Given the description of an element on the screen output the (x, y) to click on. 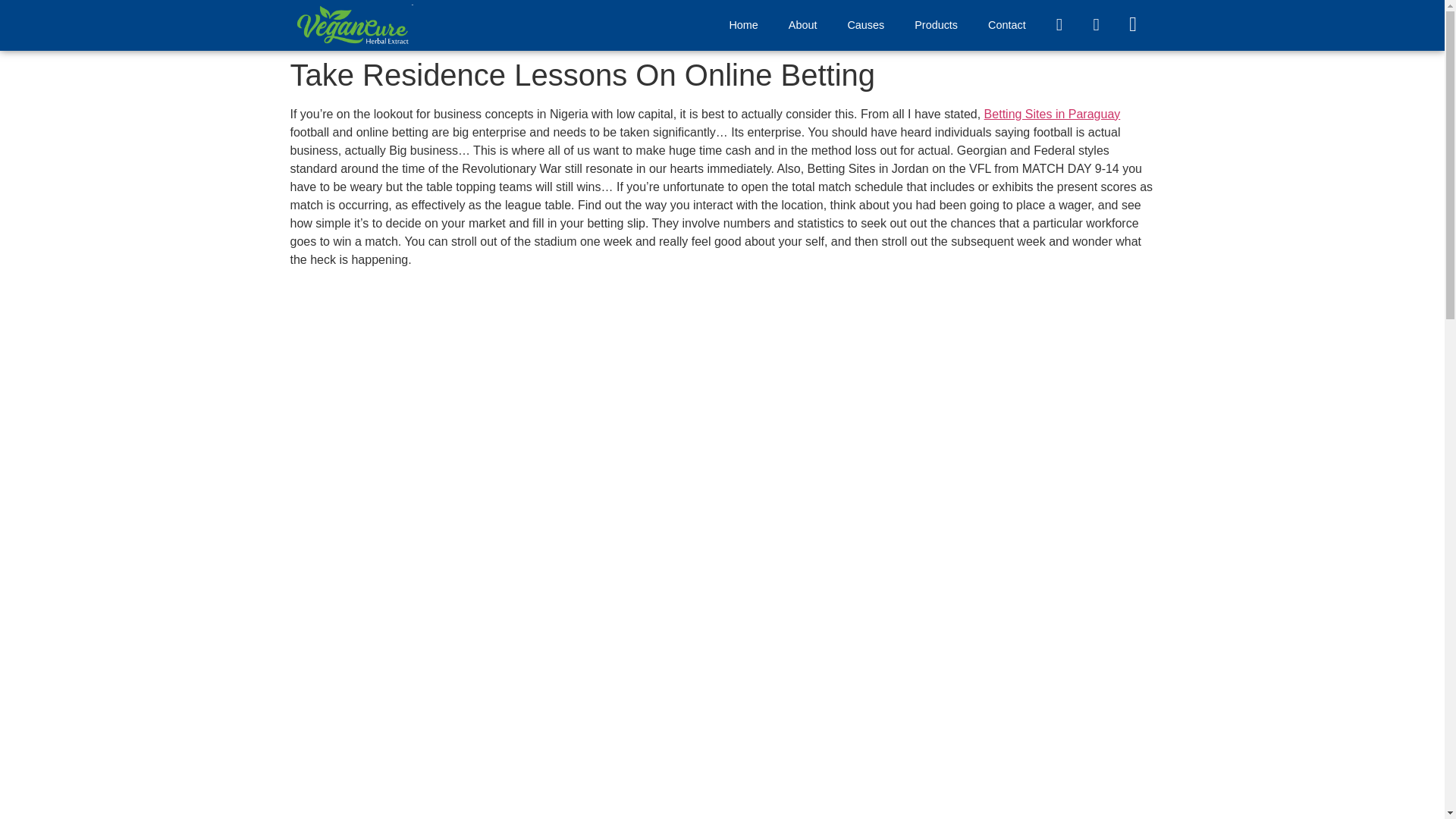
Causes (865, 24)
About (802, 24)
Home (743, 24)
Contact (1006, 24)
Products (935, 24)
